Given the description of an element on the screen output the (x, y) to click on. 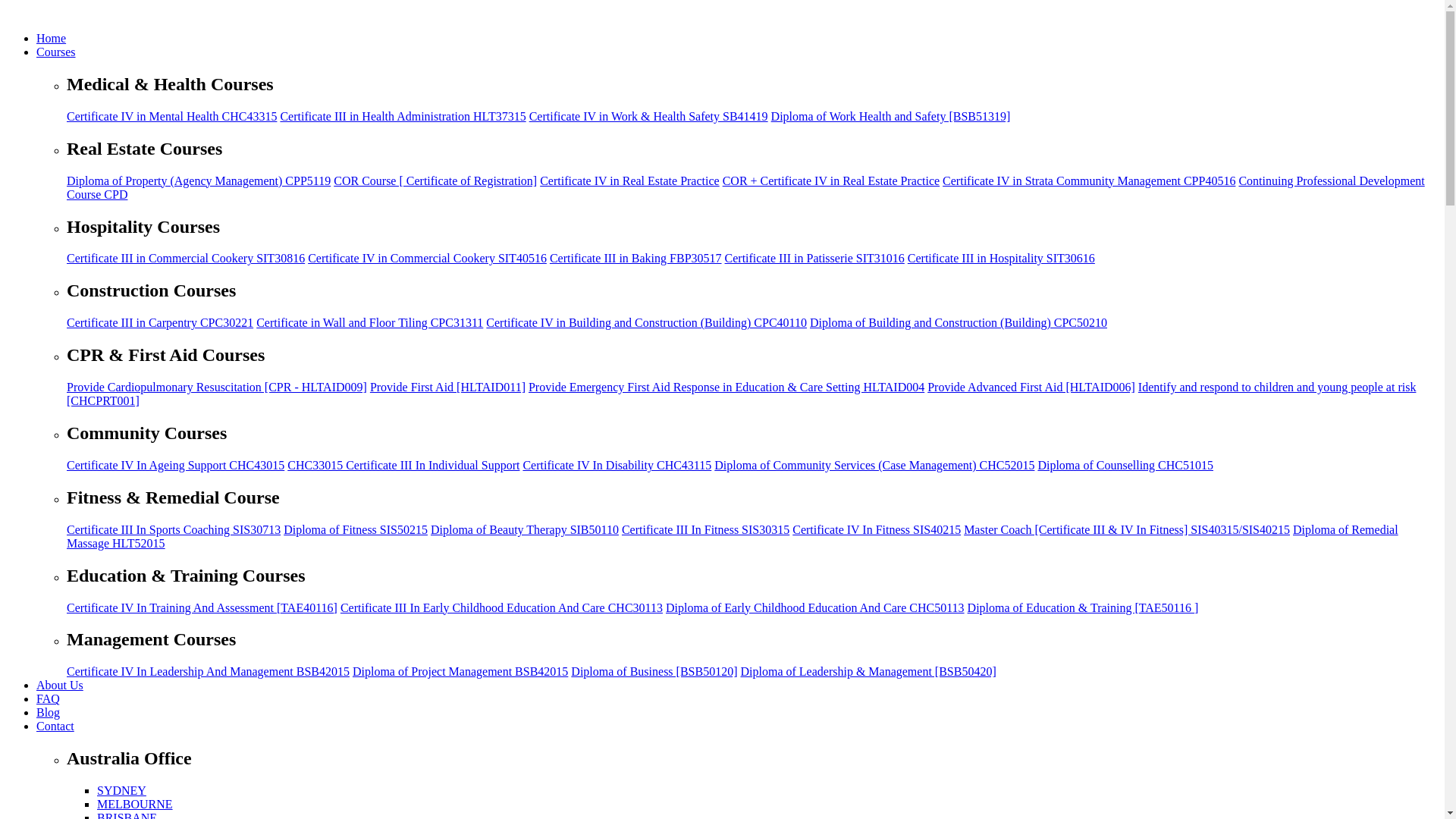
Certificate IV in Real Estate Practice (629, 180)
Courses (55, 51)
Certificate in Wall and Floor Tiling CPC31311 (369, 322)
Certificate IV In Disability CHC43115 (616, 464)
Certificate IV in Commercial Cookery SIT40516 (427, 257)
Certificate III In Sports Coaching SIS30713 (173, 529)
Certificate IV in Mental Health CHC43315 (171, 115)
CHC33015 Certificate III In Individual Support (402, 464)
Certificate IV in Strata Community Management CPP40516 (1088, 180)
Certificate III in Patisserie SIT31016 (814, 257)
